Given the description of an element on the screen output the (x, y) to click on. 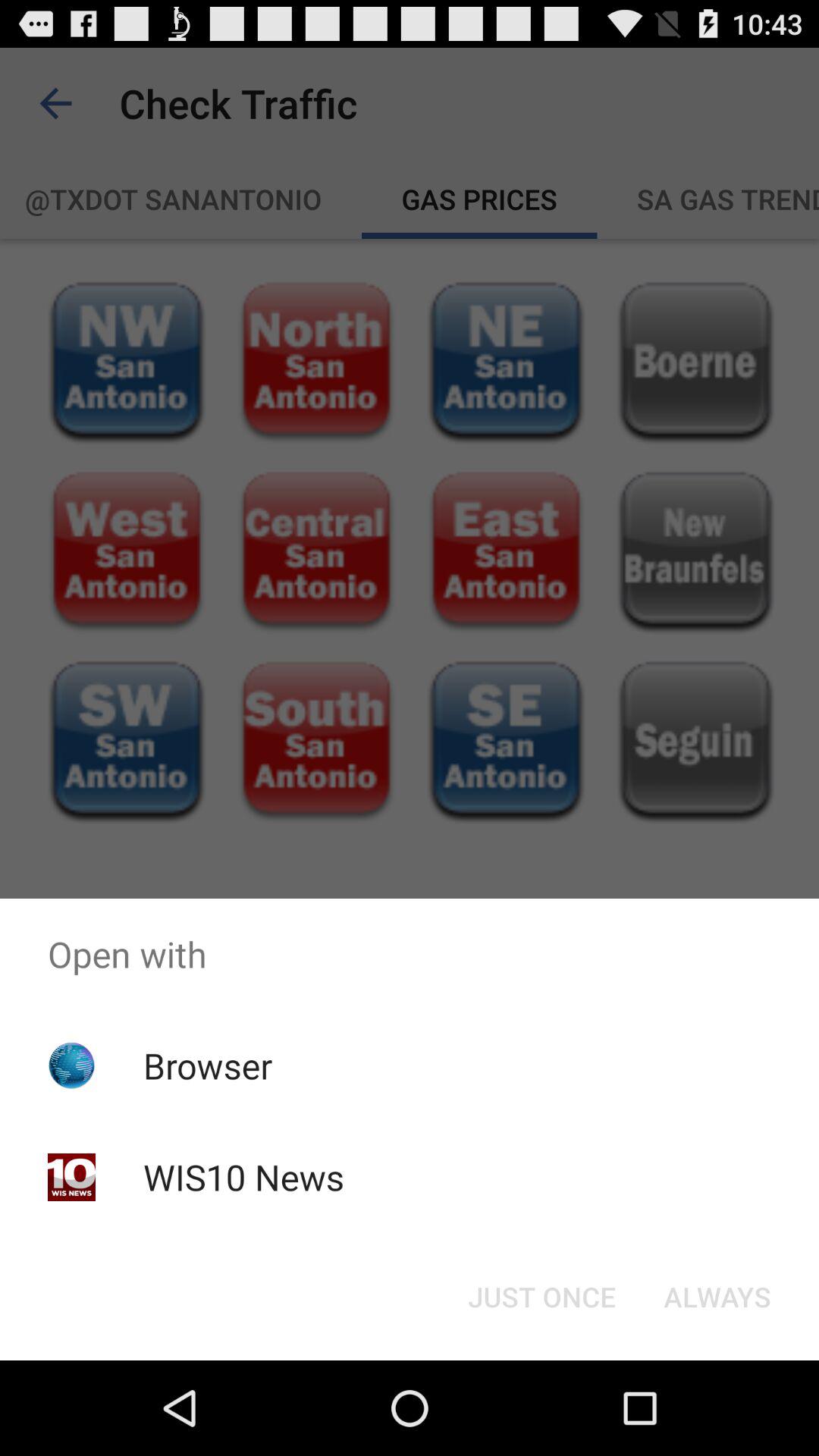
jump to just once icon (541, 1296)
